Given the description of an element on the screen output the (x, y) to click on. 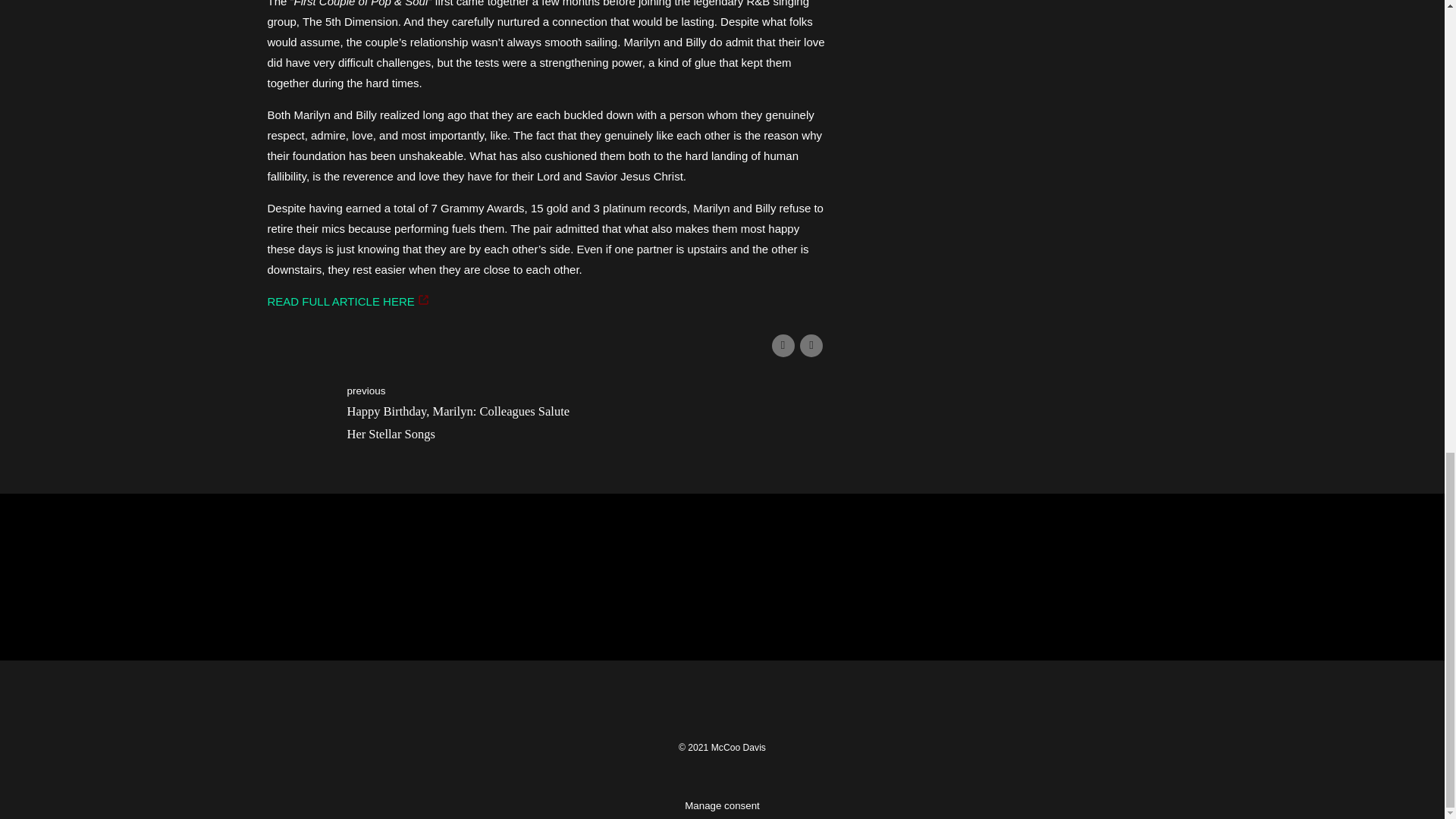
READ FULL ARTICLE HERE (347, 300)
Share on Twitter (810, 345)
Share on Facebook (782, 345)
